Given the description of an element on the screen output the (x, y) to click on. 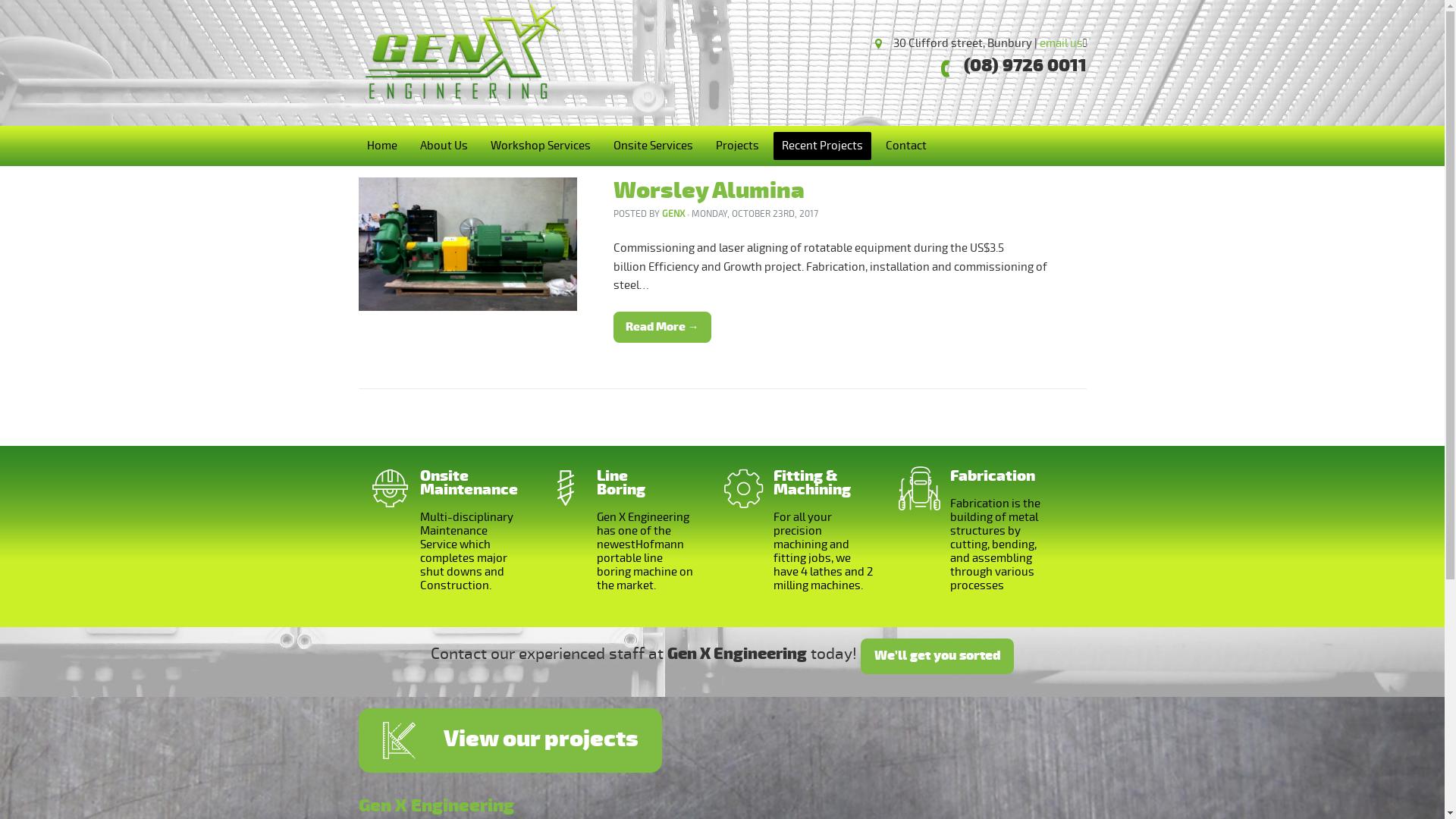
Projects Element type: text (736, 145)
Worsley Alumina Element type: text (707, 190)
About Us Element type: text (443, 145)
Recent Projects Element type: text (822, 145)
Home Element type: text (381, 145)
GENX Element type: text (672, 213)
Contact Element type: text (905, 145)
Workshop Services Element type: text (540, 145)
Onsite Services Element type: text (653, 145)
View our projects Element type: text (509, 740)
email us Element type: text (1060, 43)
